Given the description of an element on the screen output the (x, y) to click on. 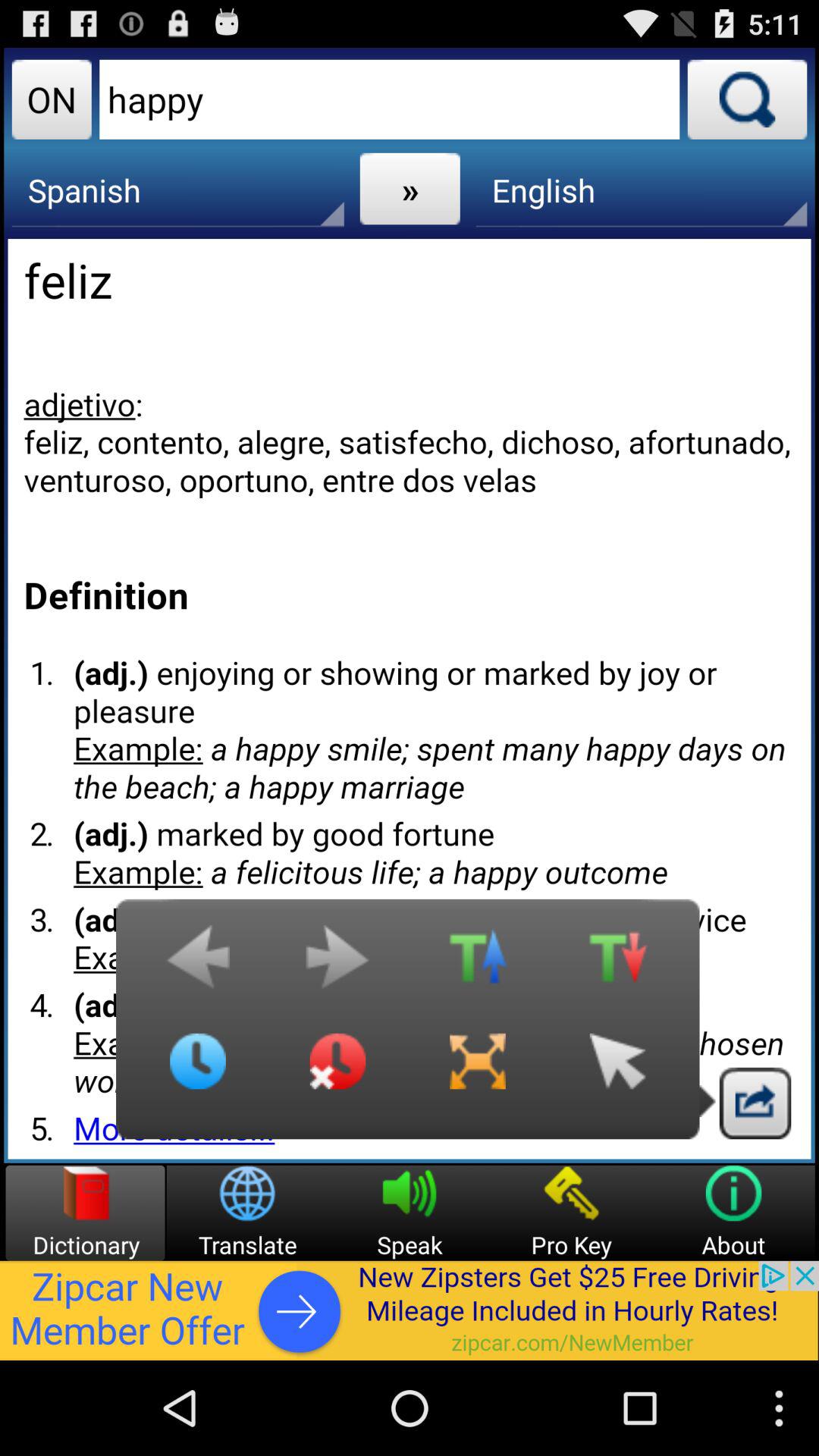
back farce (617, 1073)
